Given the description of an element on the screen output the (x, y) to click on. 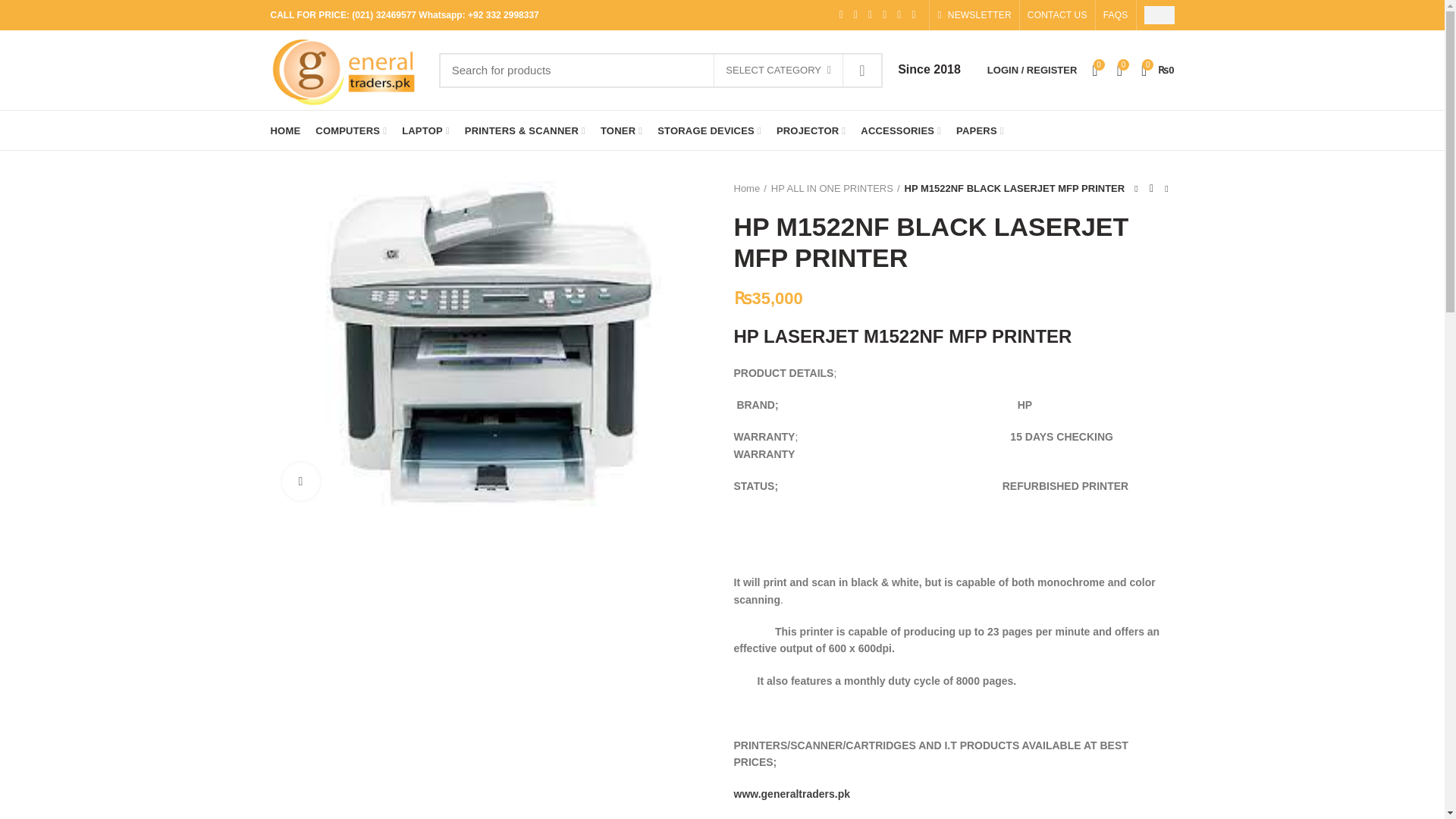
SELECT CATEGORY (778, 70)
Shopping cart (1158, 69)
NEWSLETTER (974, 15)
My account (1031, 69)
SELECT CATEGORY (778, 70)
CONTACT US (1057, 15)
FAQS (1115, 15)
